Given the description of an element on the screen output the (x, y) to click on. 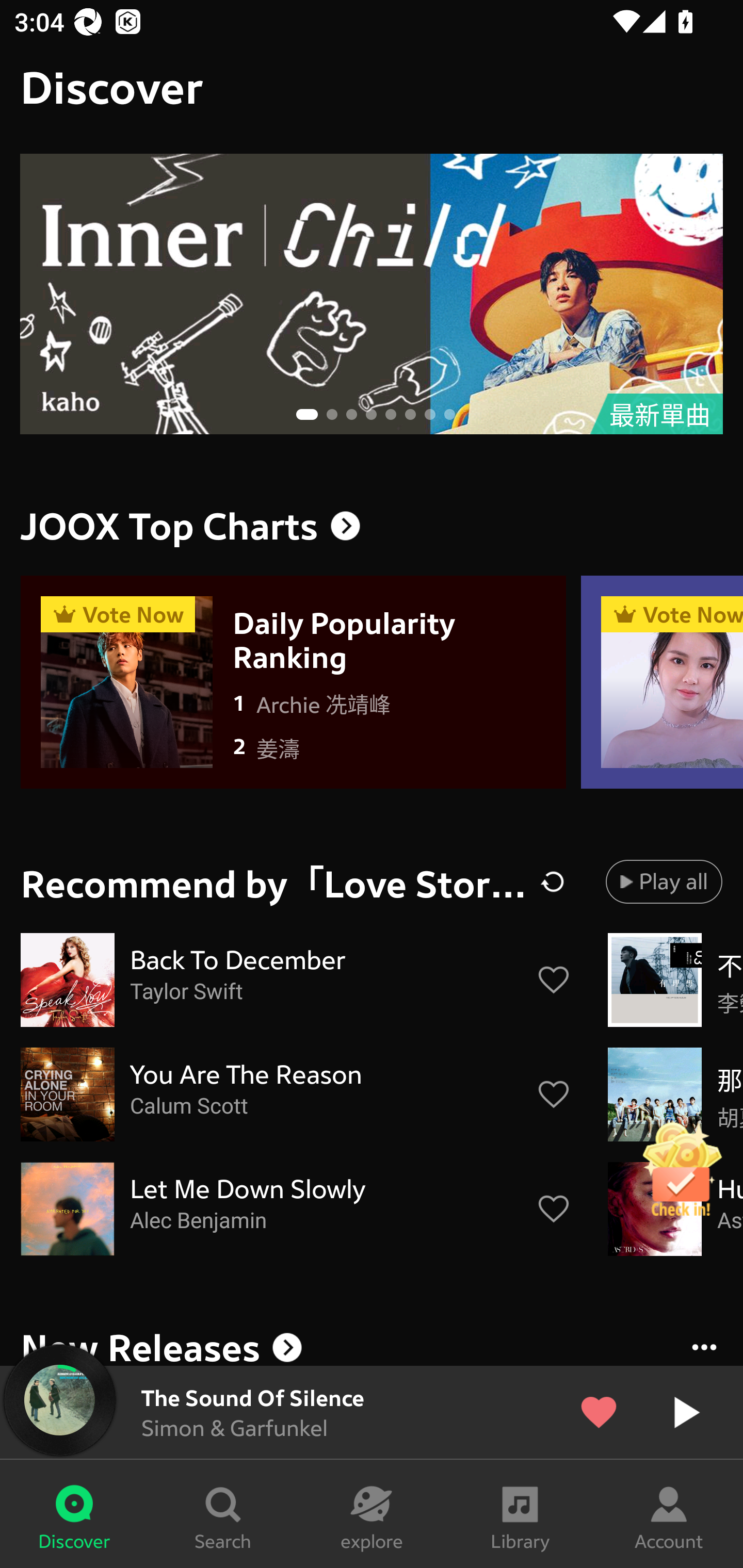
最新單曲   (371, 293)
JOOX Top Charts (371, 525)
Play all (663, 881)
Back To December Taylor Swift (295, 979)
You Are The Reason Calum Scott (295, 1094)
Let Me Down Slowly Alec Benjamin (295, 1208)
New Releases (371, 1344)
The Sound Of Silence Simon & Garfunkel (371, 1412)
Search (222, 1513)
explore (371, 1513)
Library (519, 1513)
Account (668, 1513)
